Given the description of an element on the screen output the (x, y) to click on. 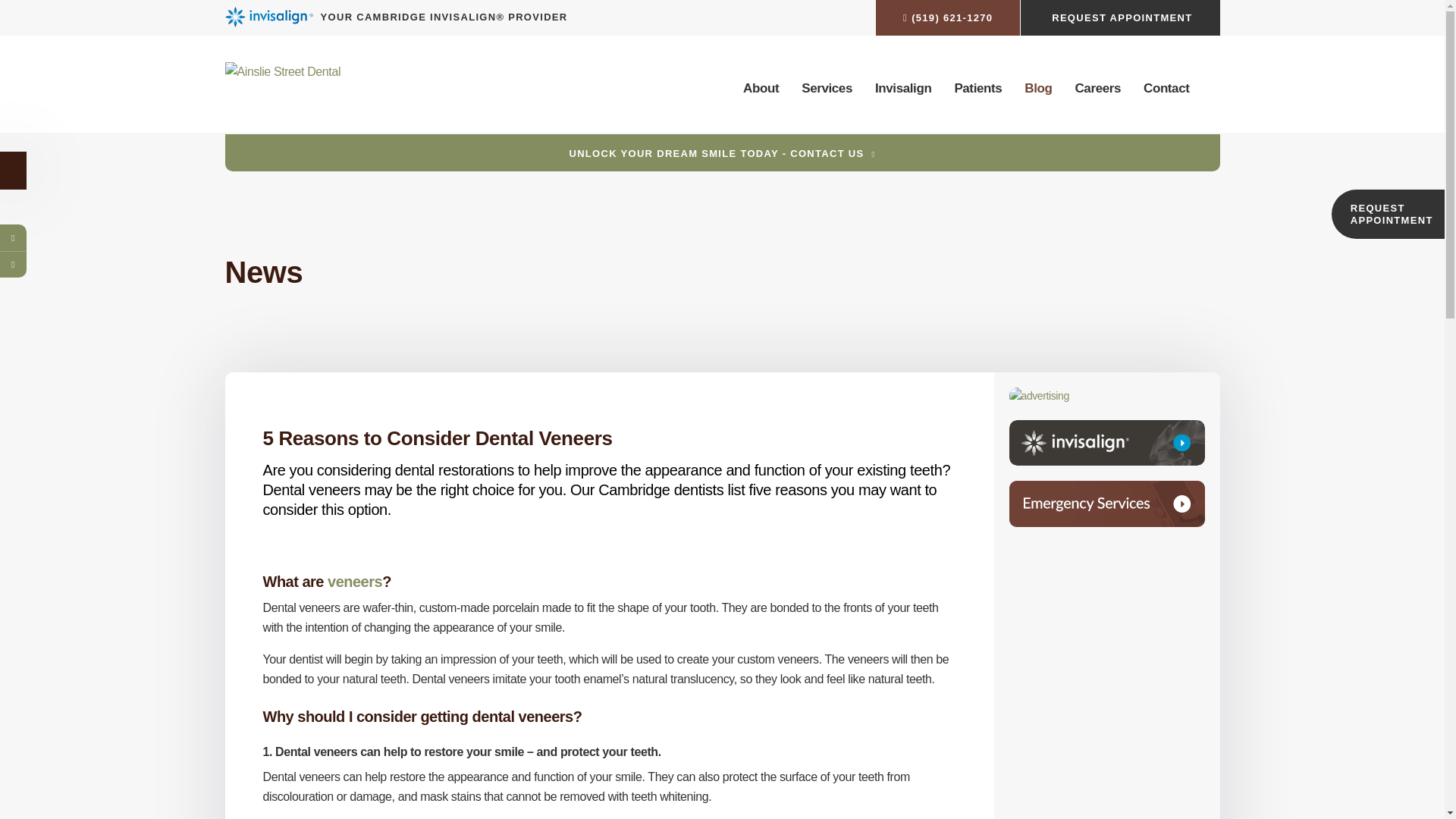
Contact Ainslie Street Dental Centre, Cambridge Dentist Element type: hover (1106, 503)
REQUEST APPOINTMENT Element type: text (1119, 17)
Blog Element type: text (1038, 88)
veneers Element type: text (354, 581)
UNLOCK YOUR DREAM SMILE TODAY - CONTACT US Element type: text (721, 153)
About Element type: text (760, 88)
Invisalign Element type: text (902, 88)
Patients Element type: text (977, 88)
Invisalign Clear Aligners, Cambridge Dentist Element type: hover (1106, 442)
Accessible Version Element type: text (13, 170)
Open Search Box Element type: text (1215, 87)
(519) 621-1270 Element type: text (947, 17)
Services Element type: text (826, 88)
Contact Element type: text (1166, 88)
Careers Element type: text (1097, 88)
REQUEST
APPOINTMENT Element type: text (1387, 213)
